Given the description of an element on the screen output the (x, y) to click on. 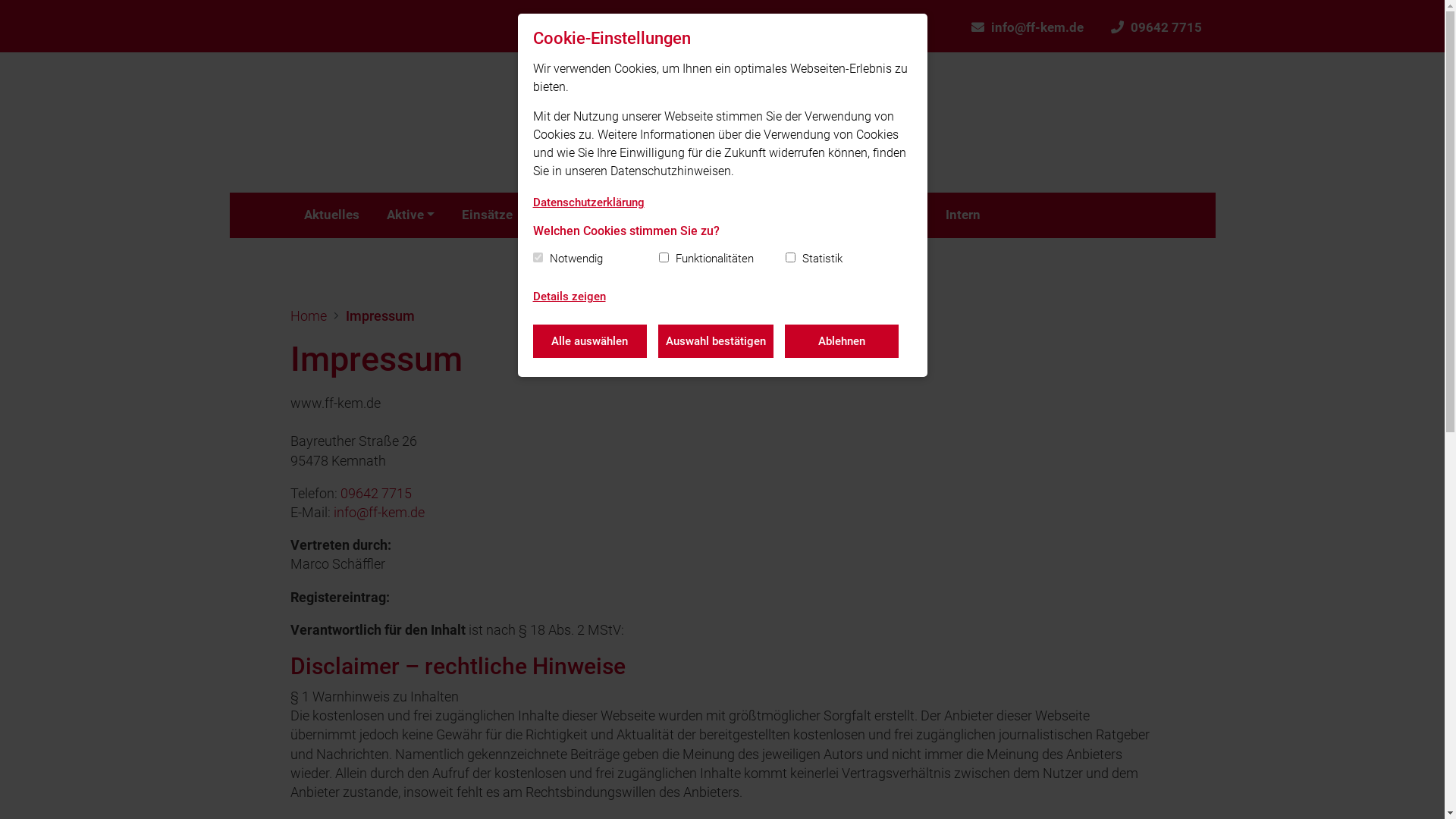
info@ff-kem.de Element type: text (378, 512)
Home Element type: text (307, 315)
Aktive Element type: text (410, 215)
Ablehnen Element type: text (840, 340)
Impressum Element type: text (379, 315)
Aktuelles Element type: text (330, 215)
Termine Element type: text (639, 215)
Neubau Element type: text (895, 215)
Nachwuchs Element type: text (730, 215)
info@ff-kem.de Element type: text (1026, 25)
Details zeigen Element type: text (568, 296)
09642 7715 Element type: text (375, 493)
Karriere Element type: text (822, 215)
Intern Element type: text (962, 215)
09642 7715 Element type: text (1155, 25)
Verein Element type: text (564, 215)
